Given the description of an element on the screen output the (x, y) to click on. 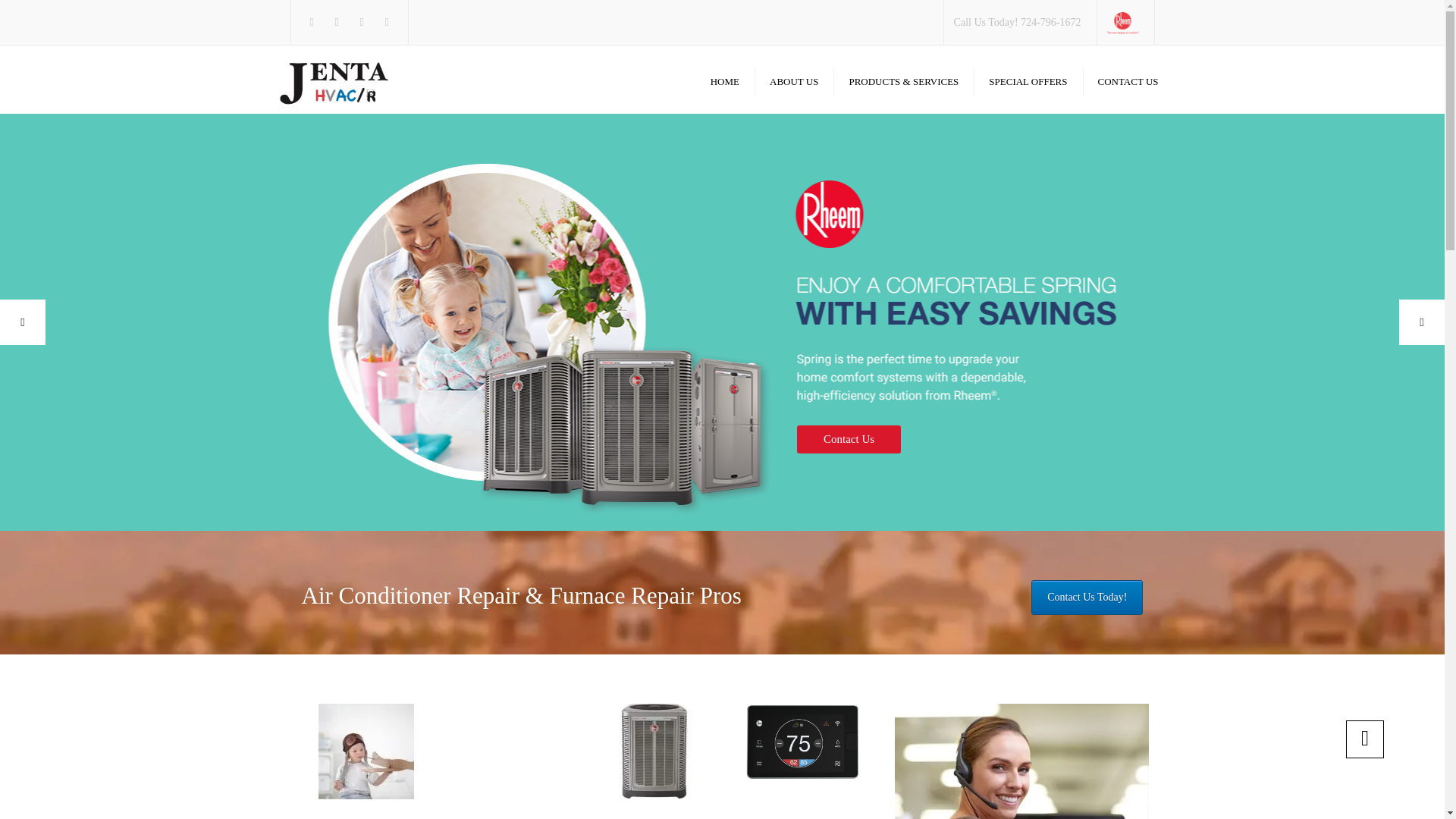
CONTACT US (1128, 81)
Scroll to top (1364, 739)
ABOUT US (793, 81)
724-796-1672 (1050, 21)
SPECIAL OFFERS (1027, 81)
Contact Us Today! (1086, 597)
